Given the description of an element on the screen output the (x, y) to click on. 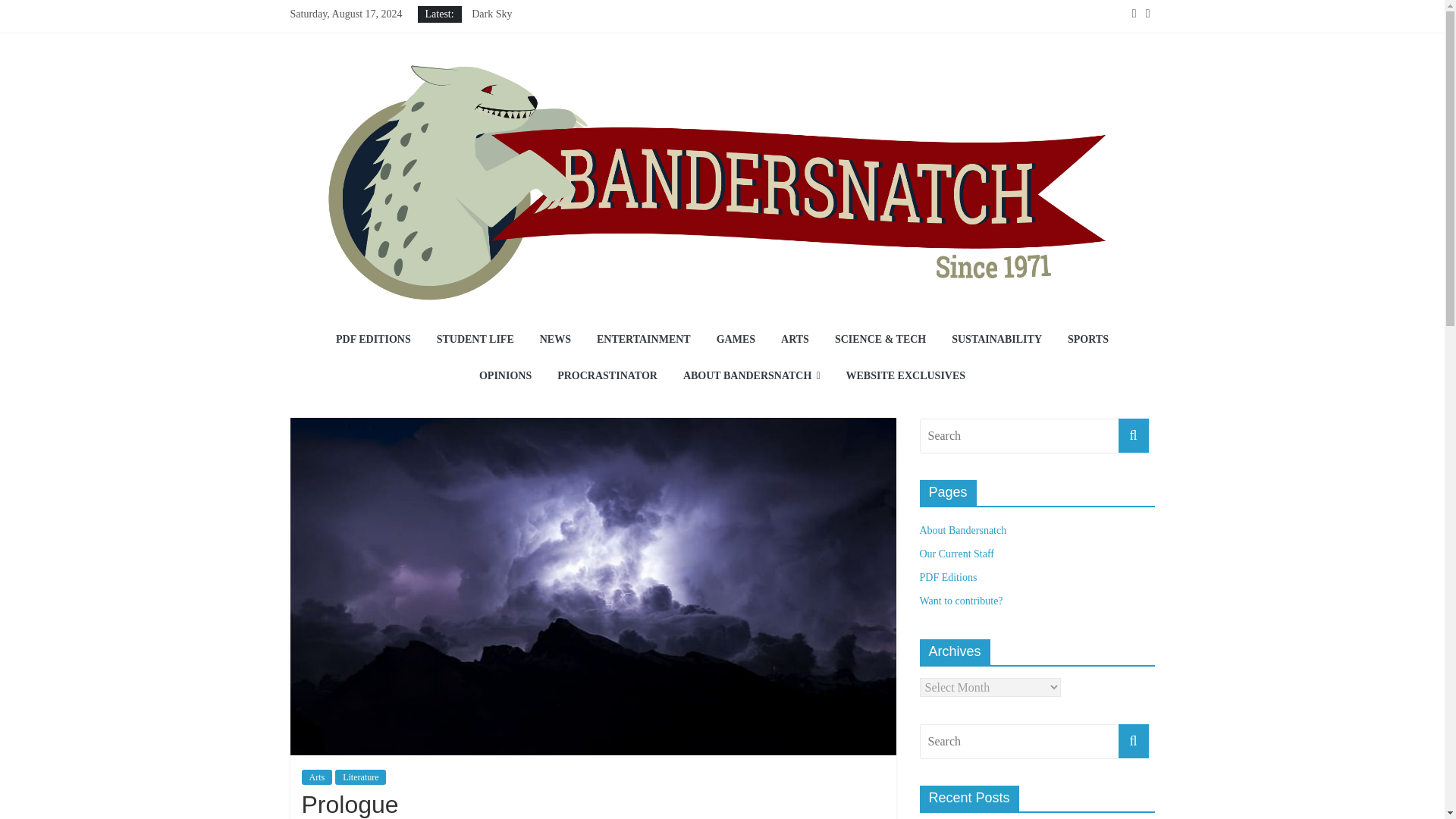
SUSTAINABILITY (996, 340)
Wildfires in Alberta (513, 81)
OPINIONS (505, 376)
Arts (317, 776)
Sunset (485, 64)
The Writing Centre (512, 30)
PROCRASTINATOR (607, 376)
Dark Sky (491, 13)
Dark Sky (491, 13)
NEWS (555, 340)
